Given the description of an element on the screen output the (x, y) to click on. 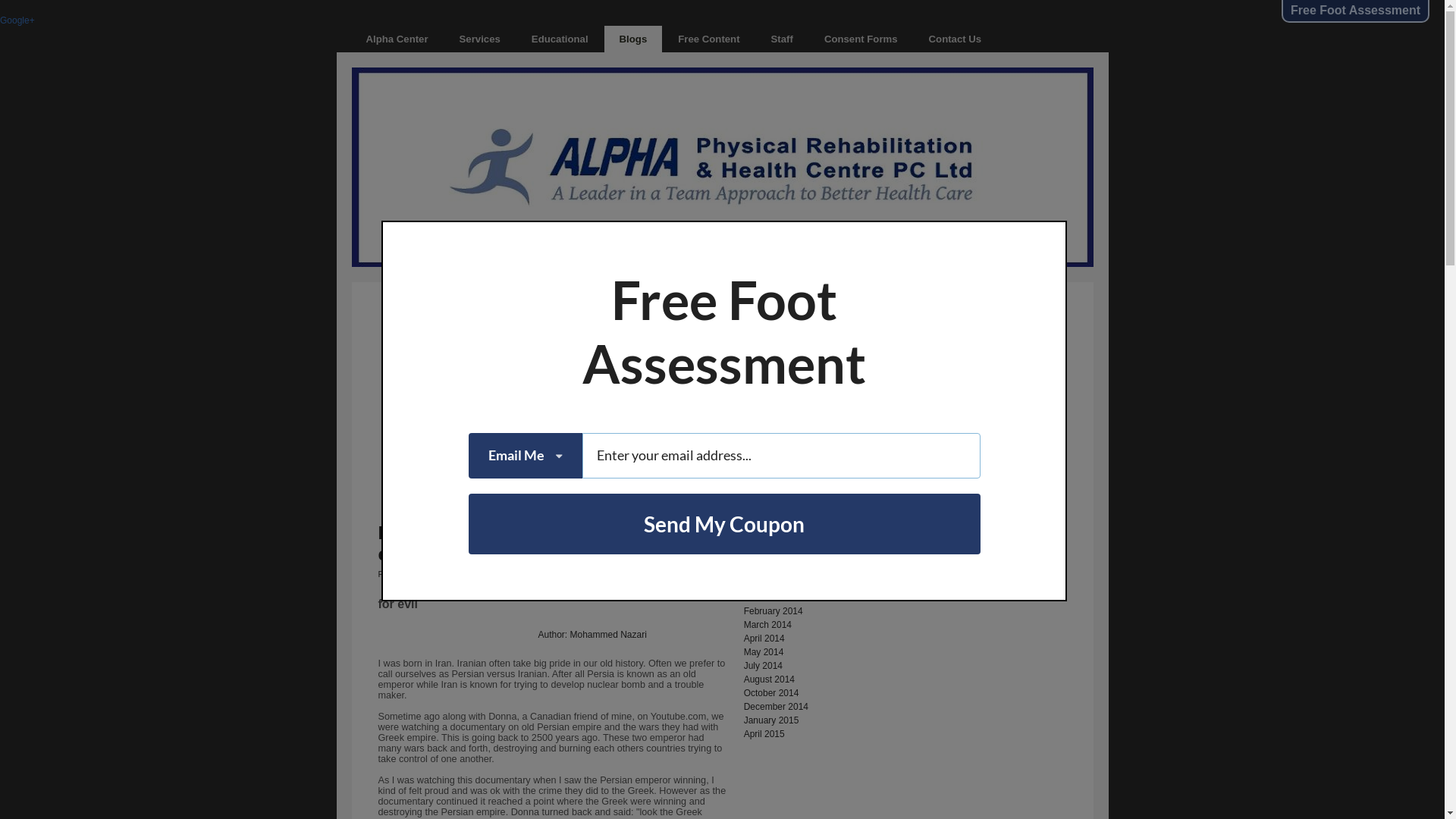
February 2014 Element type: text (773, 610)
We don't need heroes, we need team players Element type: text (834, 448)
October 2013 Element type: text (771, 583)
Educational Element type: text (559, 38)
December 2014 Element type: text (775, 706)
Free Content Element type: text (708, 38)
Contact Us Element type: text (955, 38)
Mission Statement Element type: text (781, 394)
Search Element type: text (878, 317)
Consent Forms Element type: text (861, 38)
Google+ Element type: text (17, 20)
March 2014 Element type: text (767, 624)
April 2014 Element type: text (763, 638)
August 2014 Element type: text (768, 679)
December 2013 Element type: text (775, 597)
January 2015 Element type: text (771, 720)
Search Posts Element type: text (798, 317)
May 2014 Element type: text (763, 651)
Belief, Powerful and dangerous Element type: text (806, 434)
Under: Logic First - Emotion Third Element type: text (595, 573)
Life without afterlife and the China Tea Pot... Element type: text (832, 421)
All about me (3) Element type: text (775, 509)
October 2014 Element type: text (771, 692)
Services Element type: text (479, 38)
Logic First - Emotion Third (25) Element type: text (806, 522)
Alpha Center Element type: text (396, 38)
Staff Element type: text (782, 38)
Entitlement to our history is a source for evil Element type: text (552, 543)
Dangers of theory without practice Element type: text (812, 407)
April 2015 Element type: text (763, 733)
Alpha Physiotherapy Blogs Element type: text (385, 167)
Blogs Element type: text (633, 38)
July 2014 Element type: text (762, 665)
